Given the description of an element on the screen output the (x, y) to click on. 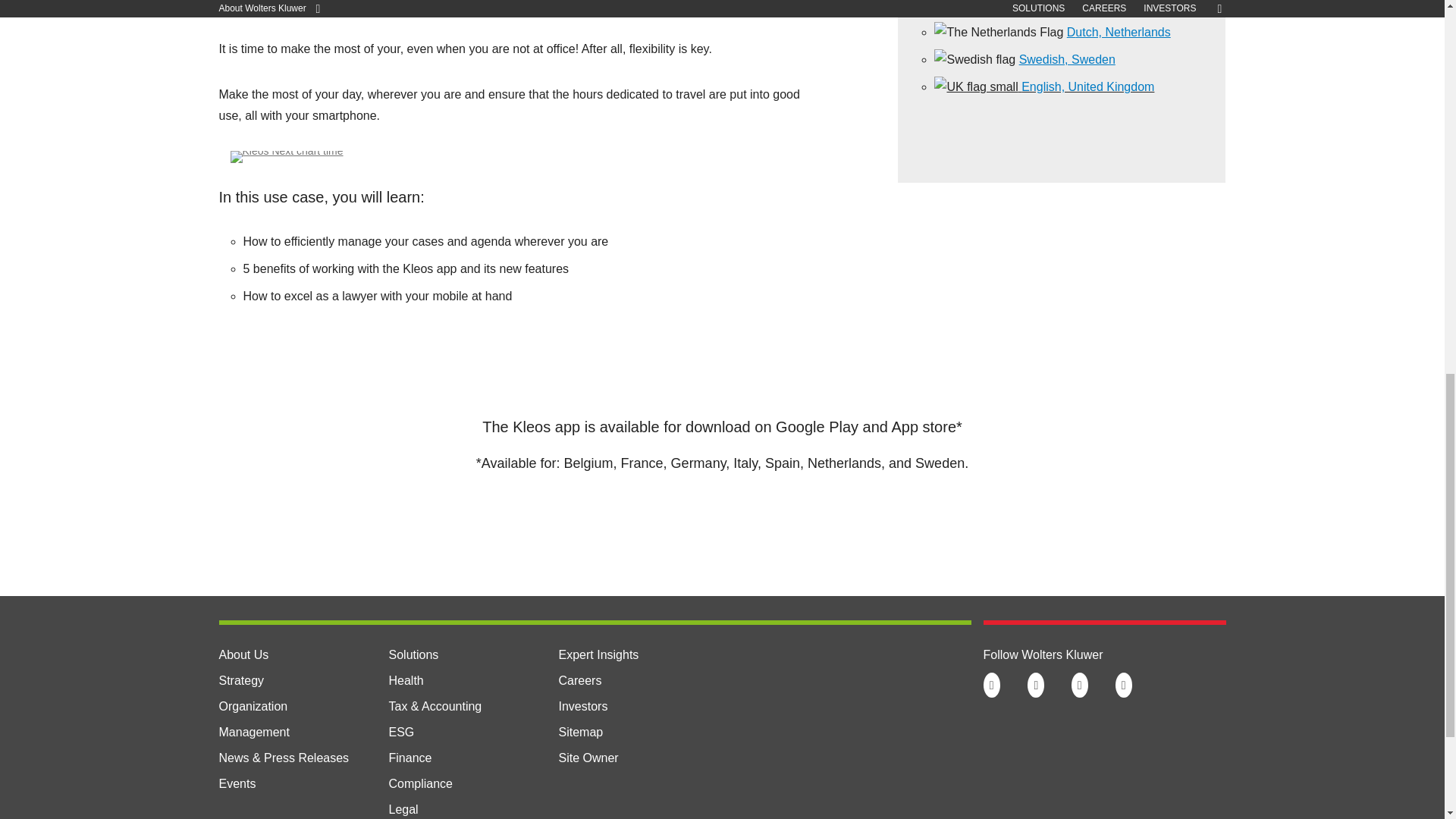
Site Owner (587, 757)
Image 2 (286, 156)
ESG (400, 731)
